Given the description of an element on the screen output the (x, y) to click on. 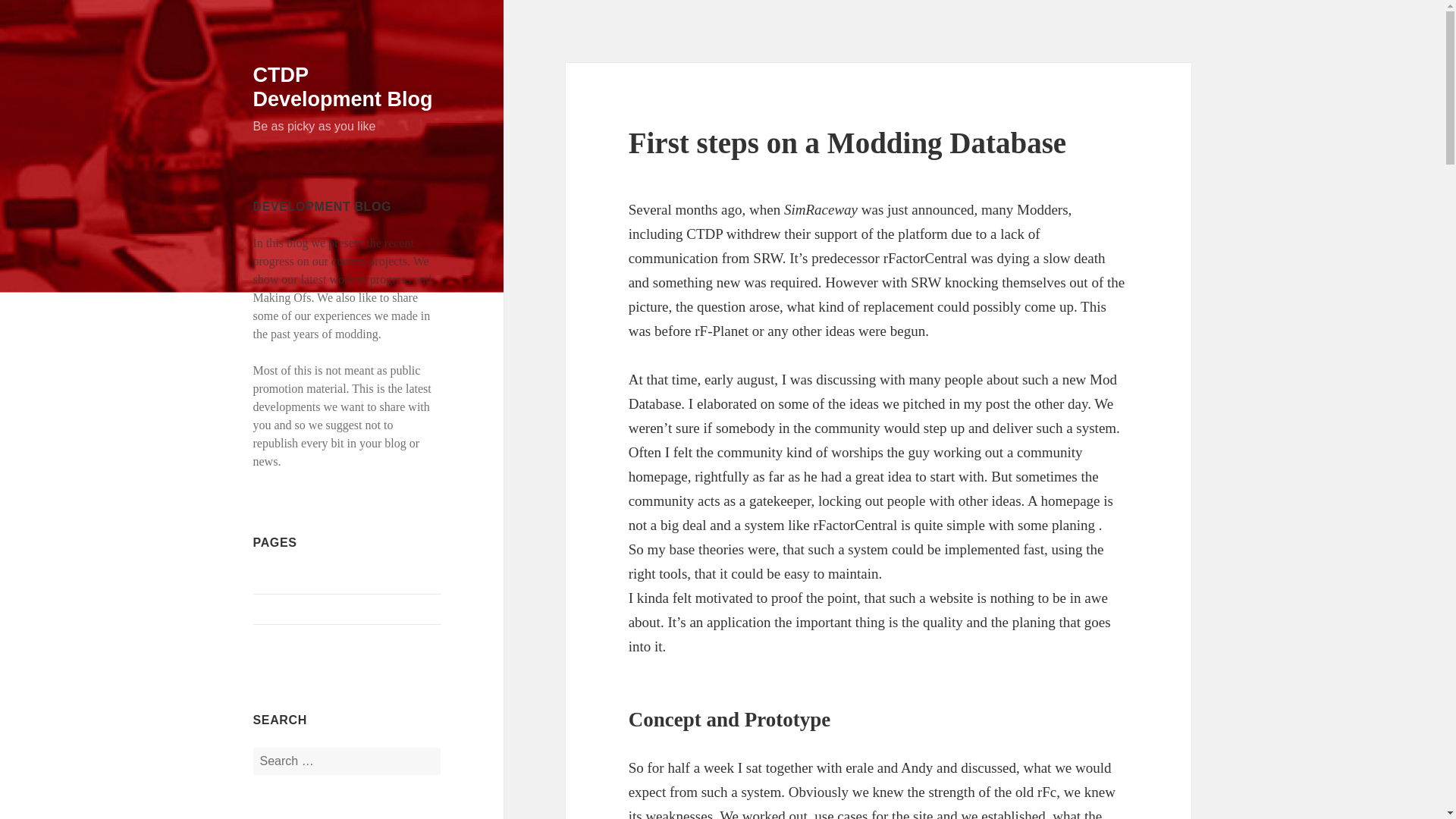
About (268, 578)
Archive (272, 608)
Tutorials (275, 639)
CTDP Development Blog (342, 86)
